Given the description of an element on the screen output the (x, y) to click on. 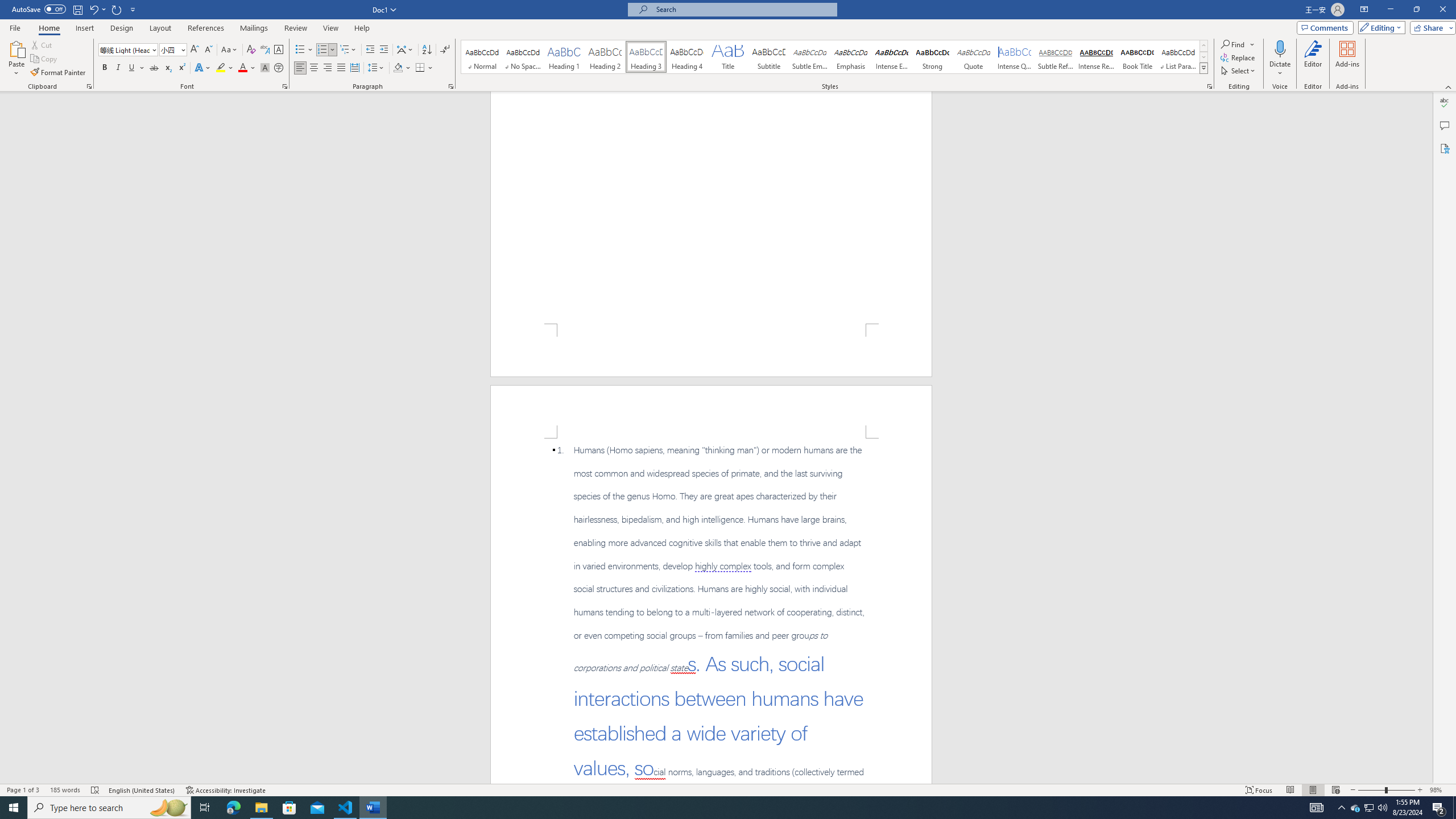
Heading 2 (605, 56)
Editing (1379, 27)
Heading 1 (564, 56)
